Given the description of an element on the screen output the (x, y) to click on. 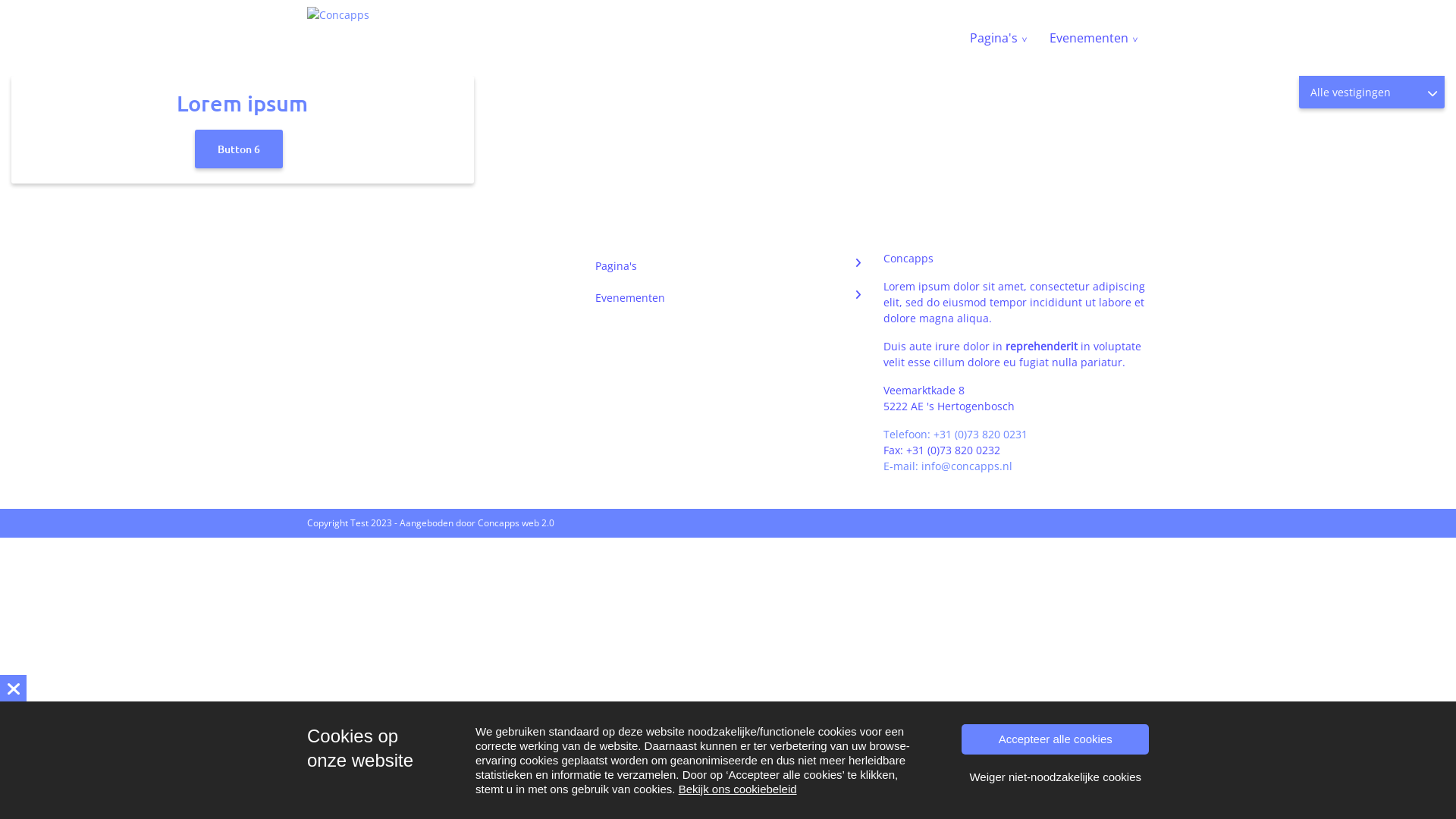
Evenementen Element type: text (727, 297)
Pagina's Element type: text (998, 37)
Accepteer alle cookies Element type: text (1054, 739)
Concapps web 2.0 Element type: text (515, 522)
E-mail: info@concapps.nl Element type: text (947, 465)
Concapps Element type: hover (338, 14)
Evenementen Element type: text (1093, 37)
Weiger niet-noodzakelijke cookies Element type: text (1054, 777)
Telefoon: +31 (0)73 820 0231 Element type: text (955, 433)
Bekijk ons cookiebeleid Element type: text (737, 788)
Button 6 Element type: text (238, 148)
Pagina's Element type: text (727, 265)
  Element type: text (13, 687)
